Given the description of an element on the screen output the (x, y) to click on. 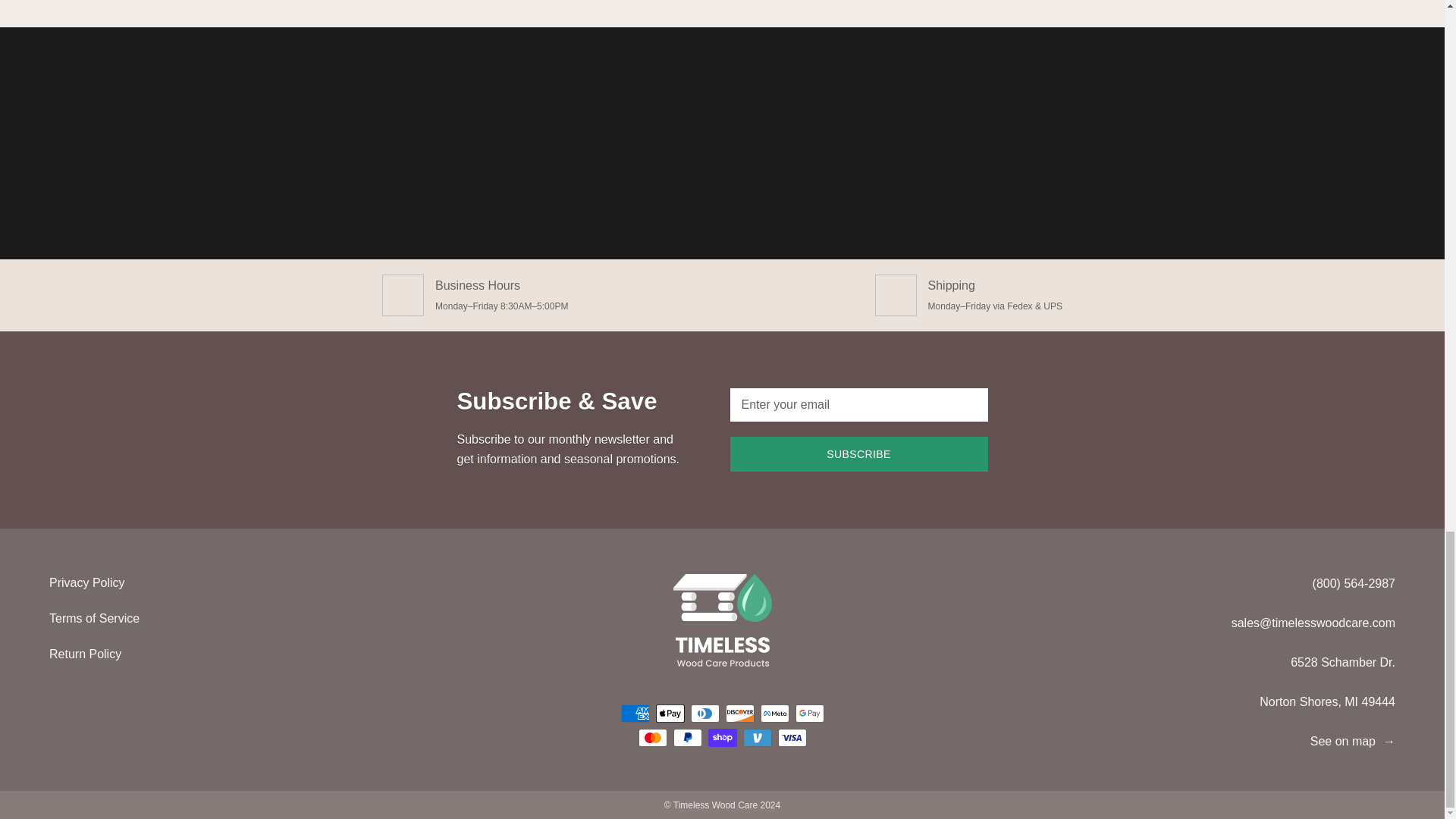
PayPal (686, 737)
Apple Pay (669, 713)
Discover (739, 713)
Diners Club (704, 713)
Shop Pay (721, 737)
Meta Pay (774, 713)
American Express (634, 713)
Venmo (756, 737)
Google Pay (809, 713)
Visa (791, 737)
Mastercard (652, 737)
